Given the description of an element on the screen output the (x, y) to click on. 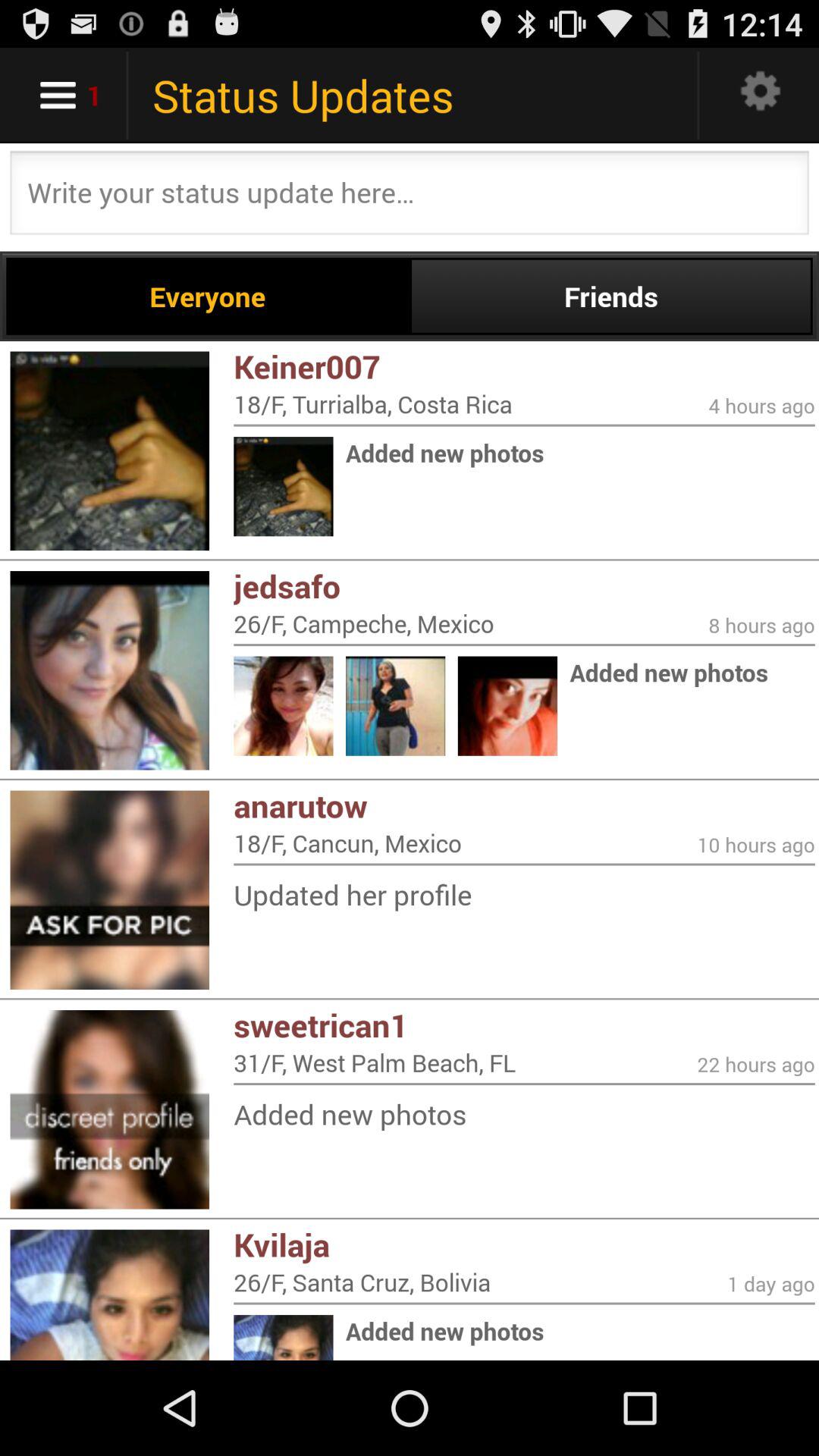
choose icon above the added new photos item (524, 1083)
